Given the description of an element on the screen output the (x, y) to click on. 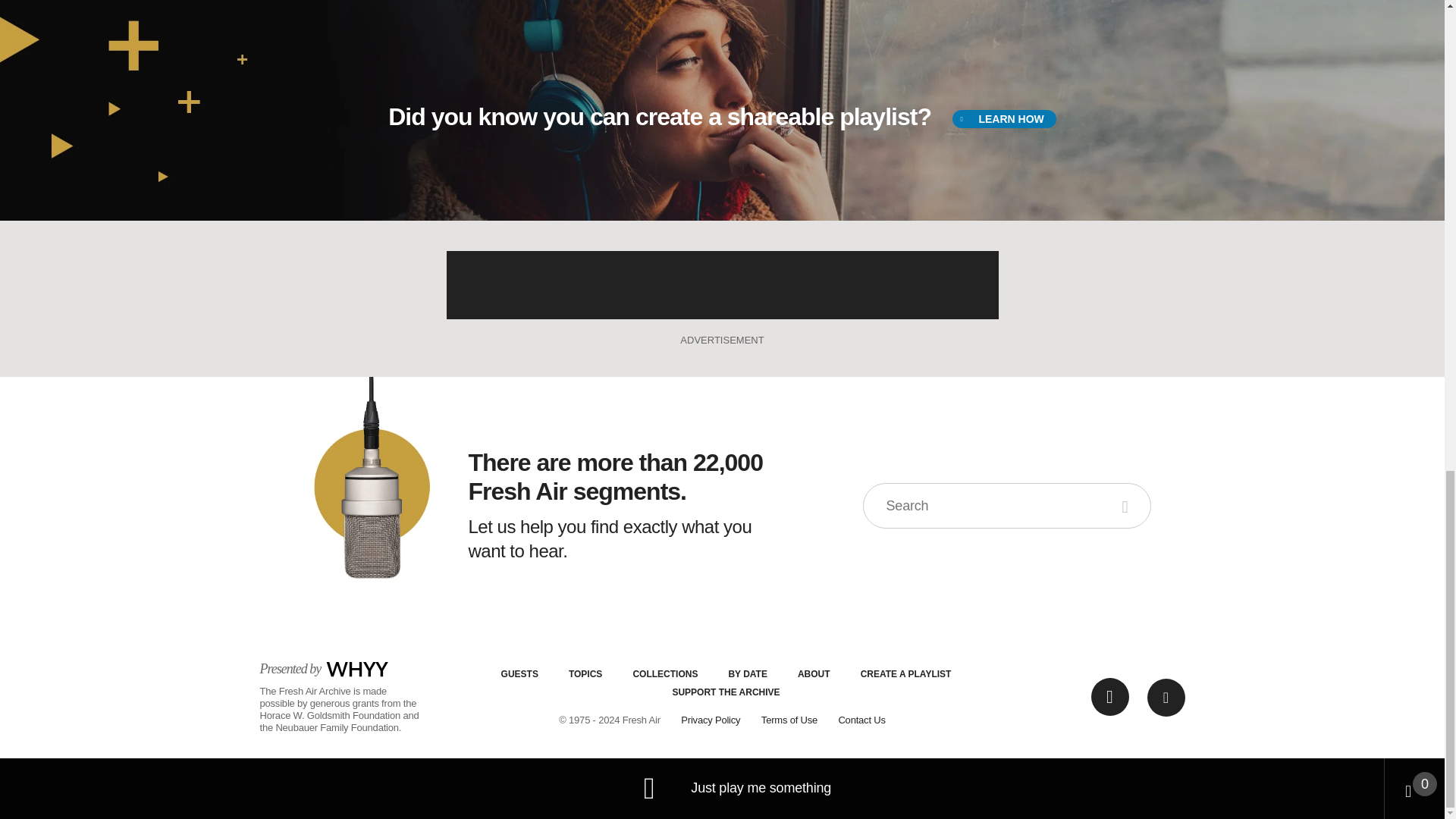
3rd party ad content (721, 284)
Search (1127, 505)
